Given the description of an element on the screen output the (x, y) to click on. 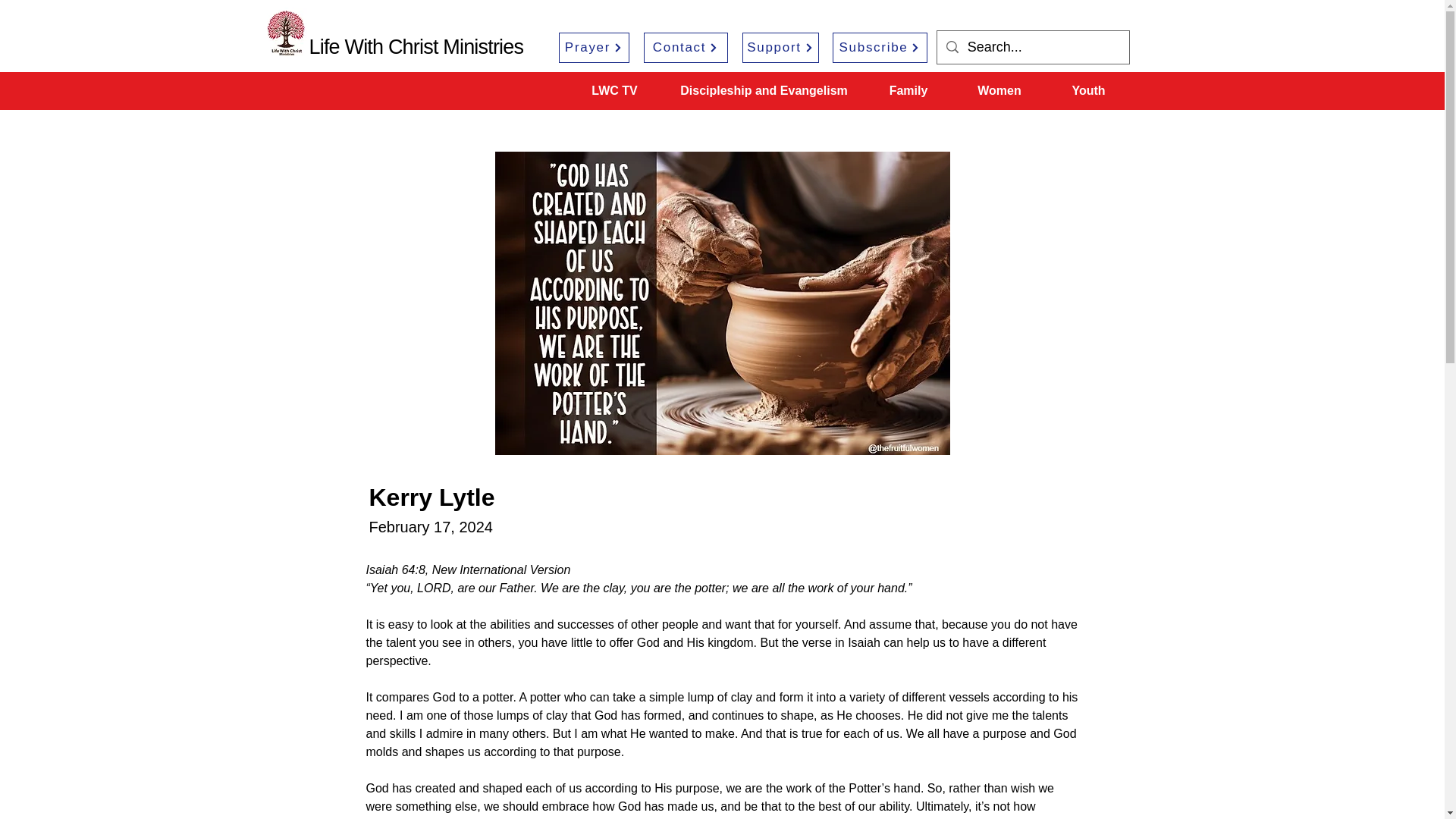
Discipleship and Evangelism (763, 90)
Youth (1087, 90)
Contact (684, 47)
Prayer (592, 47)
Women (999, 90)
Family (908, 90)
Support (779, 47)
Subscribe (879, 47)
Life With Christ Ministries (416, 47)
LWC TV (614, 90)
